Given the description of an element on the screen output the (x, y) to click on. 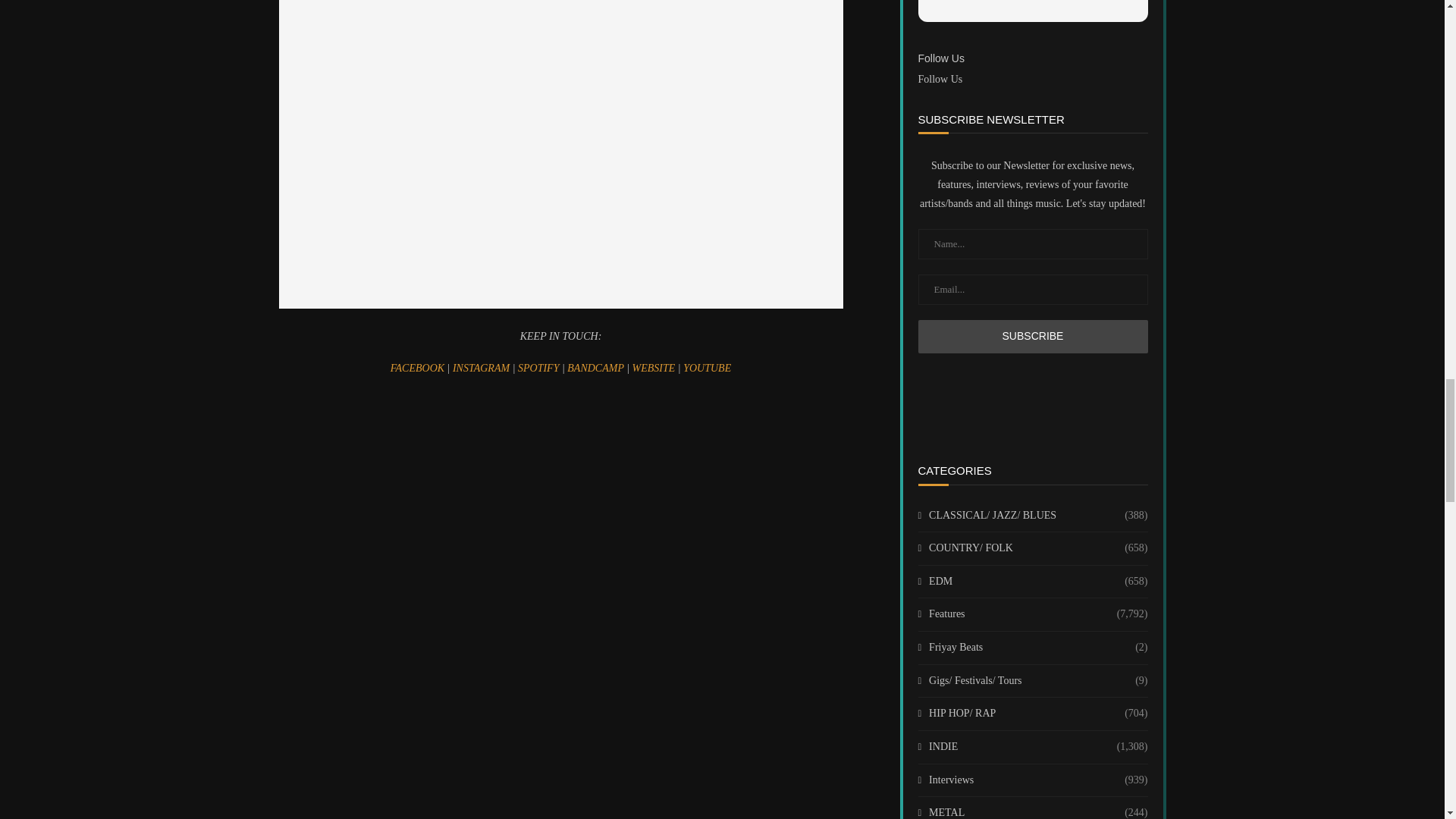
Subscribe (1032, 336)
BANDCAMP (596, 367)
FACEBOOK (418, 367)
YOUTUBE (706, 367)
INSTAGRAM (482, 367)
WEBSITE (654, 367)
SPOTIFY (540, 367)
